Given the description of an element on the screen output the (x, y) to click on. 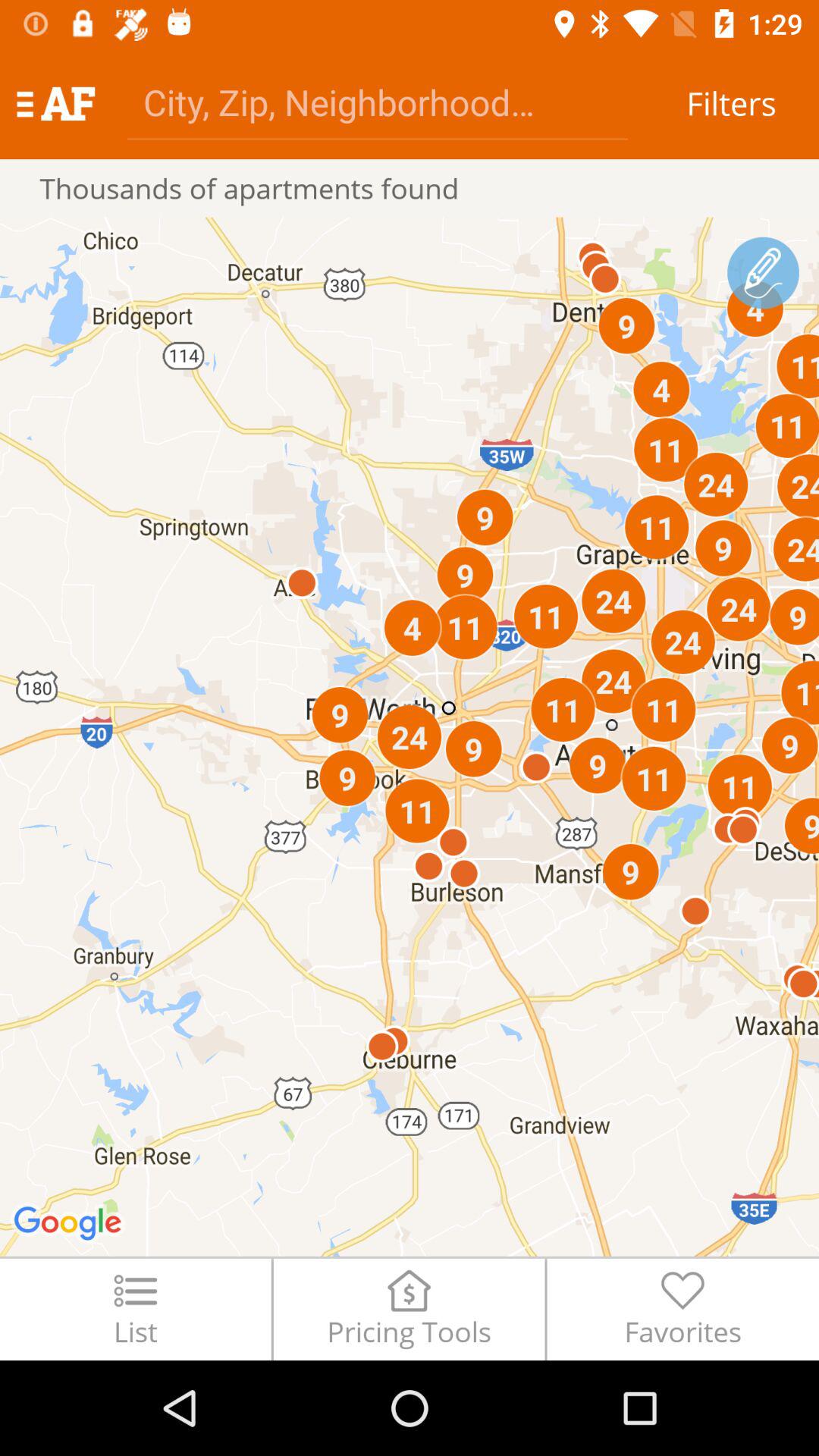
turn off the filters (731, 103)
